Given the description of an element on the screen output the (x, y) to click on. 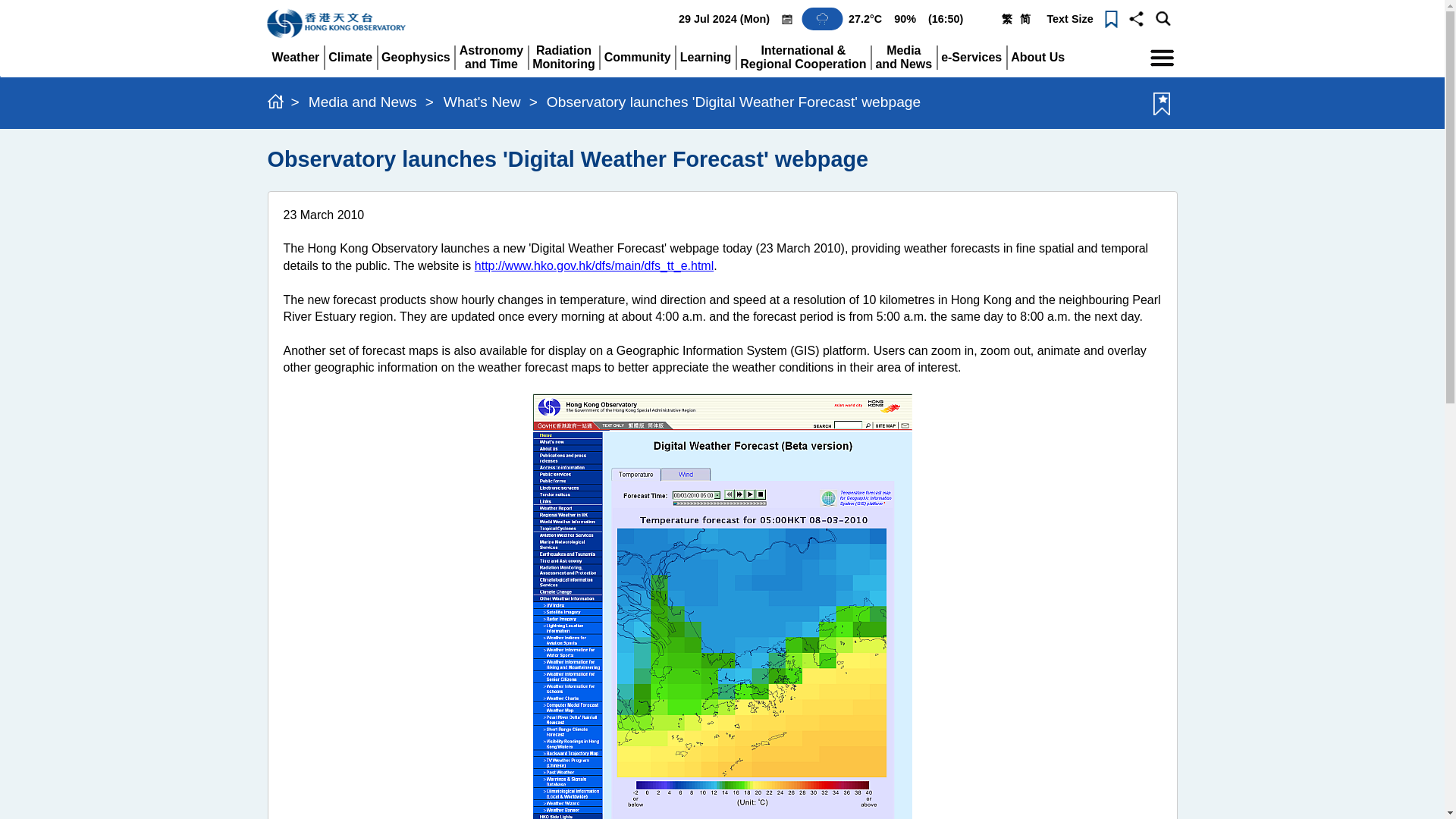
Light Rain (821, 18)
HKO RH (904, 19)
Text Size (1070, 19)
SEARCH (1164, 18)
Hong Kong Observatory (294, 56)
HKO Temp (339, 23)
